Given the description of an element on the screen output the (x, y) to click on. 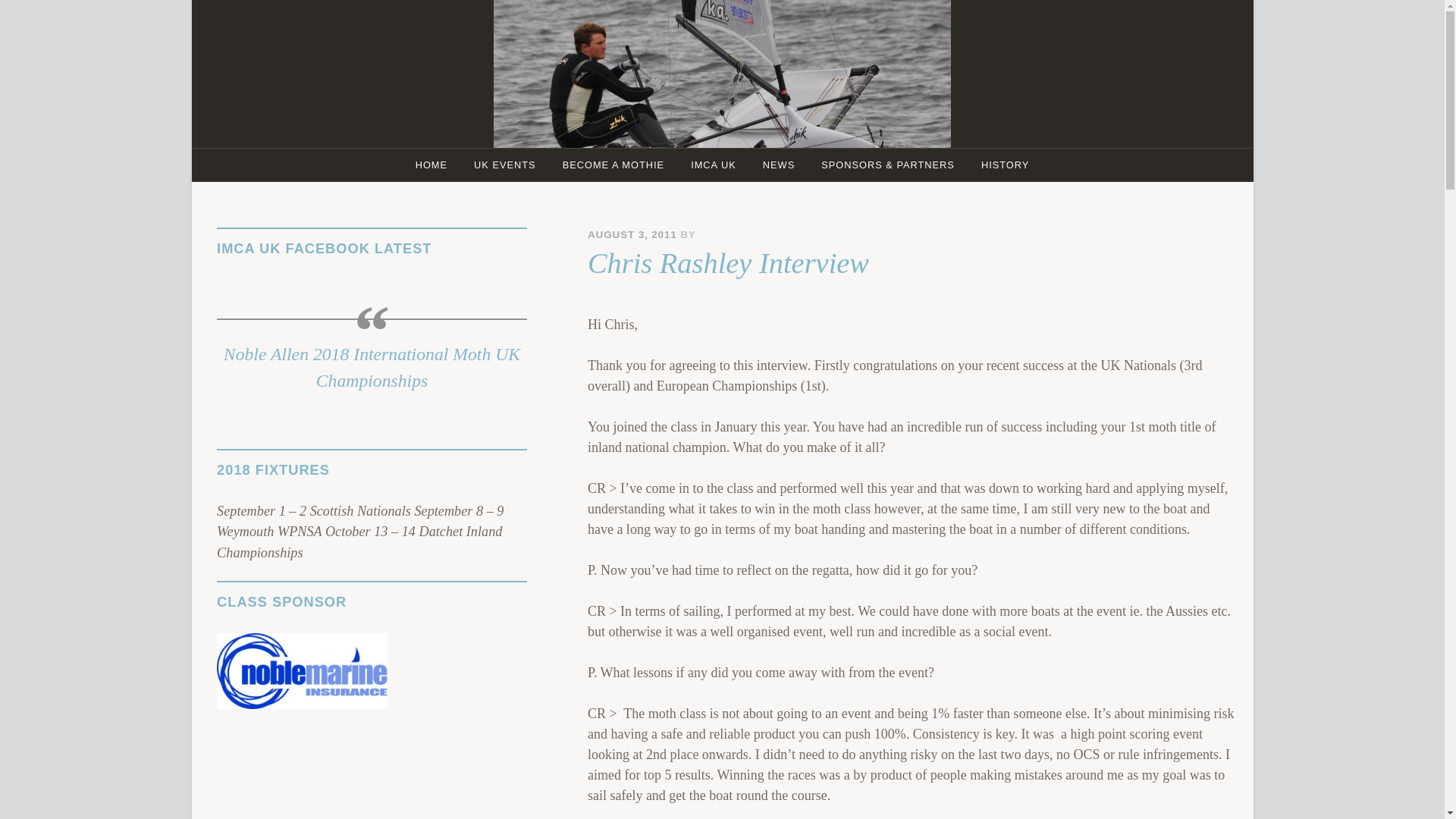
UK INTERNATIONAL MOTH SITE (792, 117)
NEWS (778, 164)
AUGUST 3, 2011 (632, 234)
IMCA UK (713, 164)
Noble Allen 2018 International Moth UK Championships (371, 367)
HISTORY (1005, 164)
HOME (431, 164)
UK EVENTS (505, 164)
BECOME A MOTHIE (613, 164)
UK International Moth Site (792, 117)
